Given the description of an element on the screen output the (x, y) to click on. 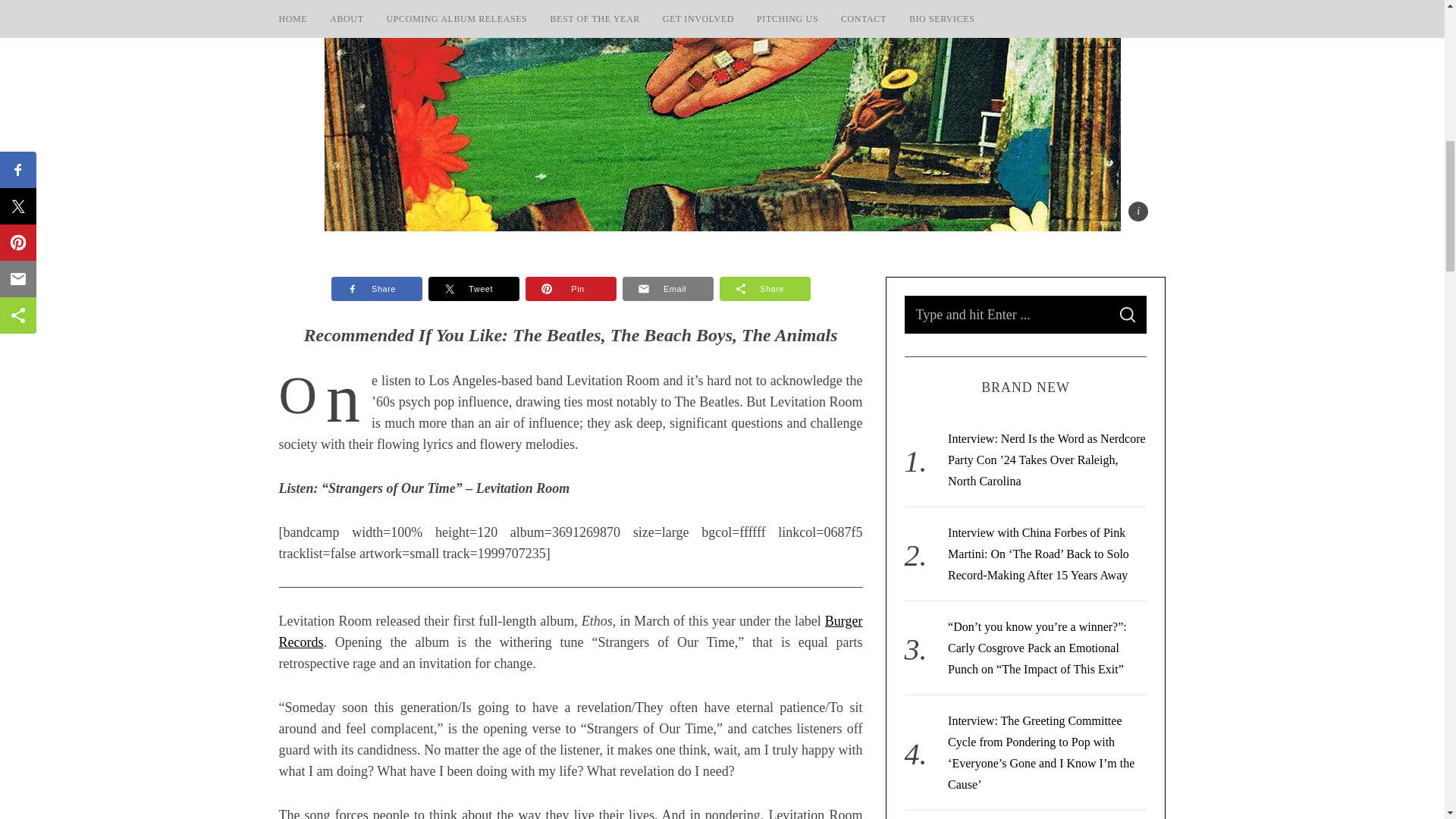
Burger Records (571, 631)
